Given the description of an element on the screen output the (x, y) to click on. 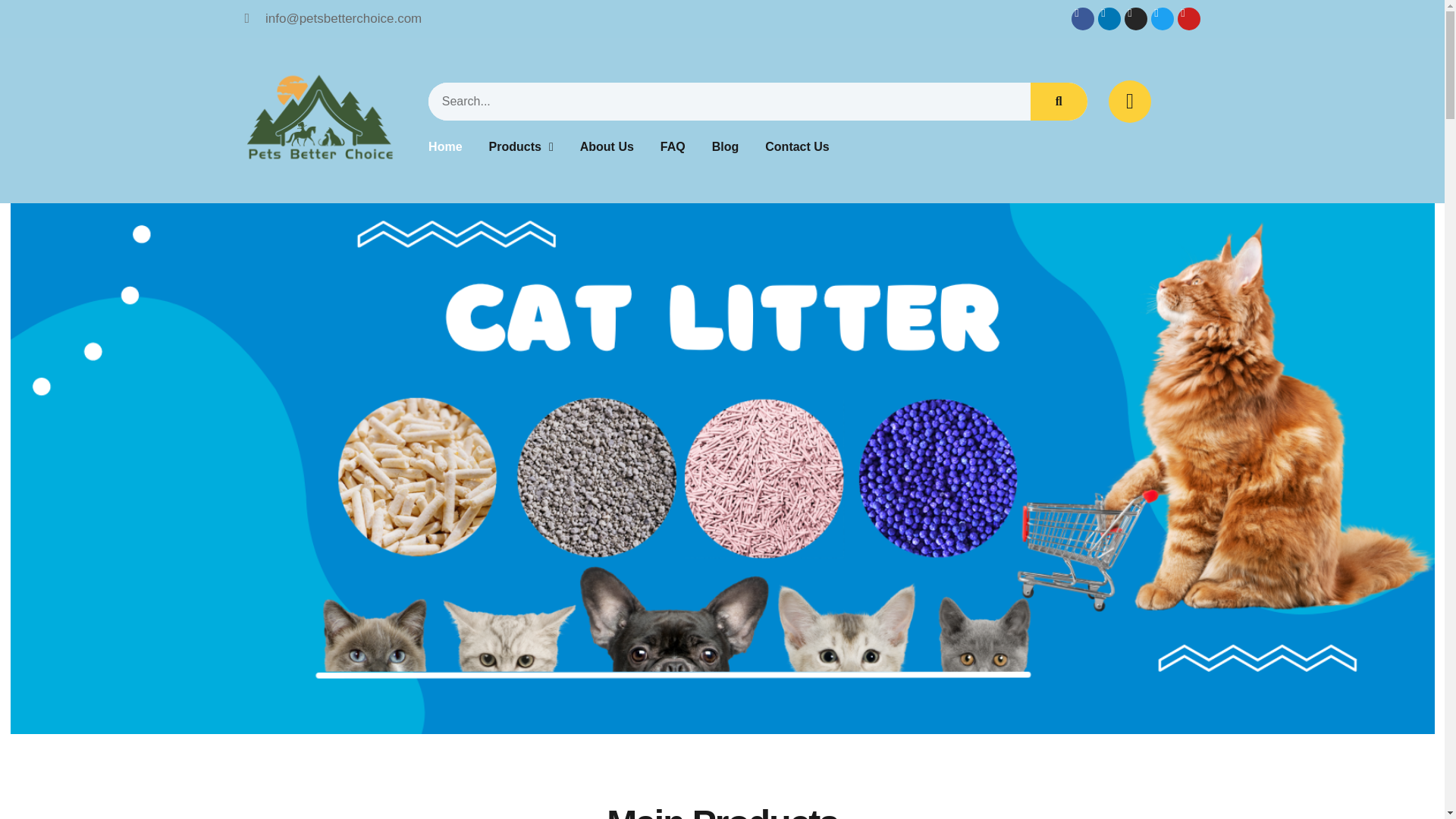
About Us (606, 146)
Products (521, 146)
Search (1058, 101)
Search (729, 101)
Contact Us (796, 146)
